Given the description of an element on the screen output the (x, y) to click on. 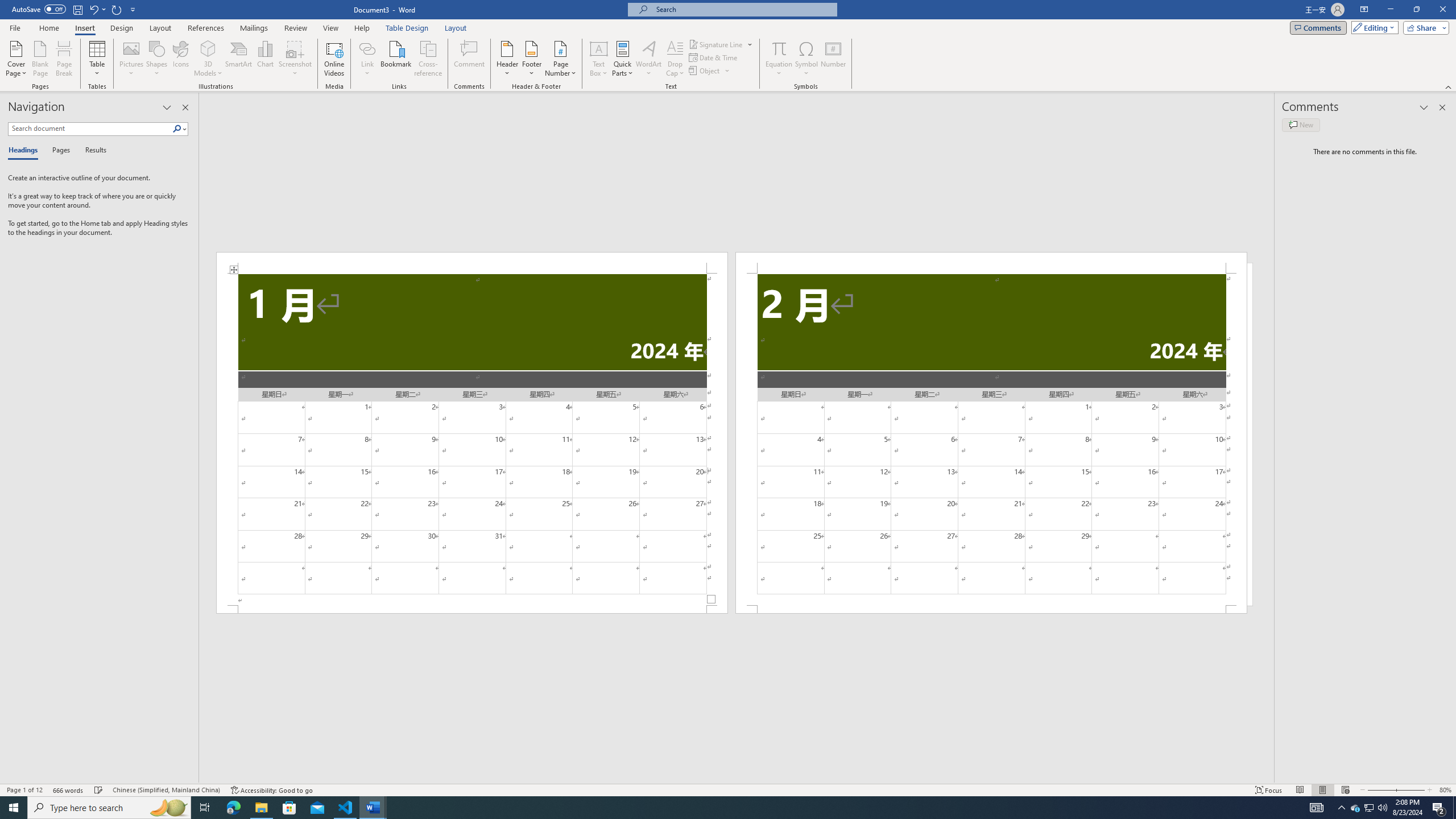
3D Models (208, 58)
Icons (180, 58)
Blank Page (40, 58)
Pictures (131, 58)
Cover Page (16, 58)
Symbol (806, 58)
Page Number Page 1 of 12 (24, 790)
Comment (469, 58)
